Given the description of an element on the screen output the (x, y) to click on. 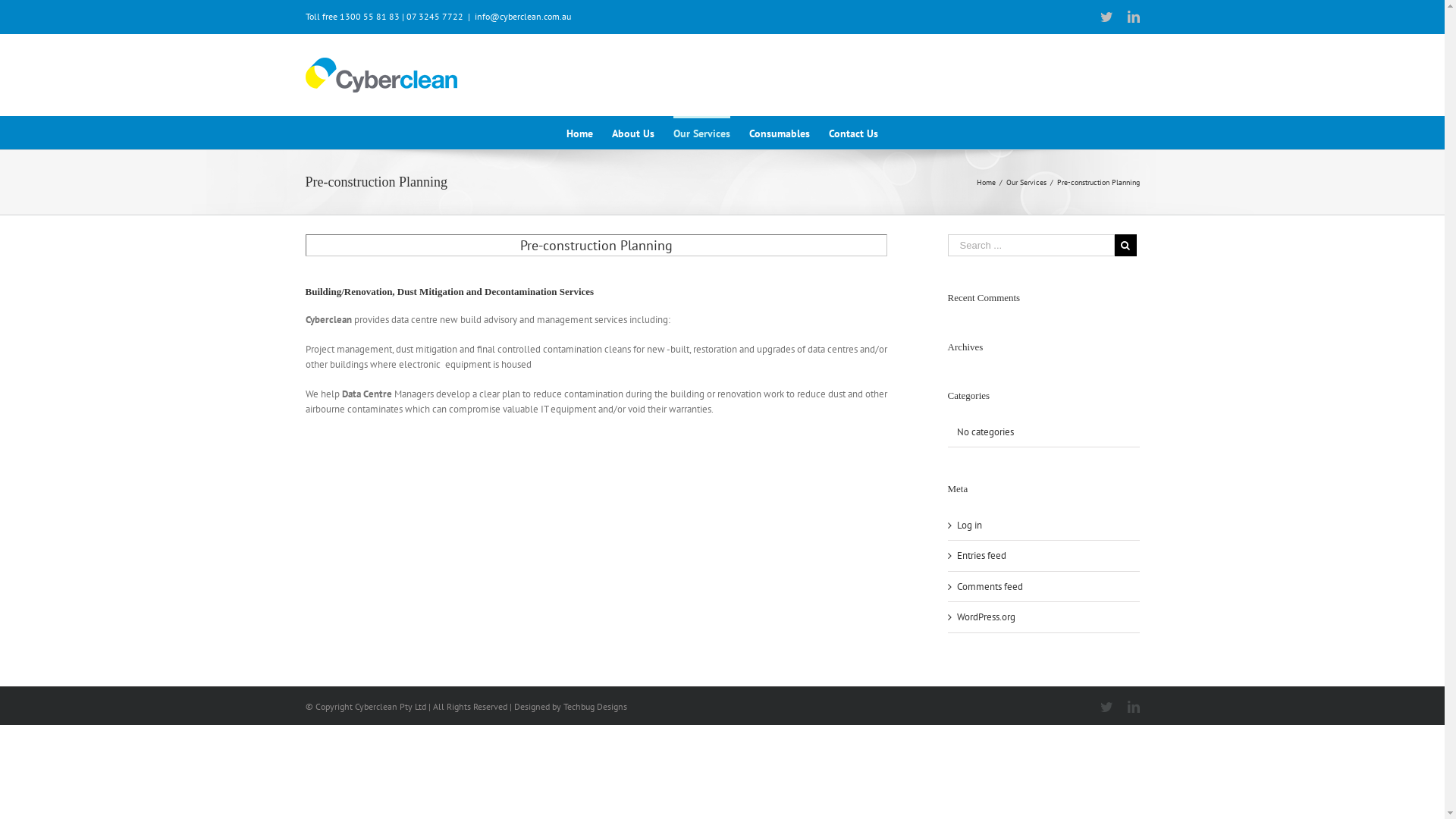
Home Element type: text (579, 132)
Twitter Element type: text (1105, 706)
About Us Element type: text (632, 132)
Comments feed Element type: text (989, 585)
Our Services Element type: text (1025, 182)
Linkedin Element type: text (1132, 706)
Log in Element type: text (969, 524)
info@cyberclean.com.au Element type: text (522, 15)
Contact Us Element type: text (853, 132)
Our Services Element type: text (701, 132)
Consumables Element type: text (779, 132)
WordPress.org Element type: text (986, 616)
Twitter Element type: text (1105, 16)
Home Element type: text (985, 182)
Entries feed Element type: text (981, 555)
Linkedin Element type: text (1132, 16)
